Given the description of an element on the screen output the (x, y) to click on. 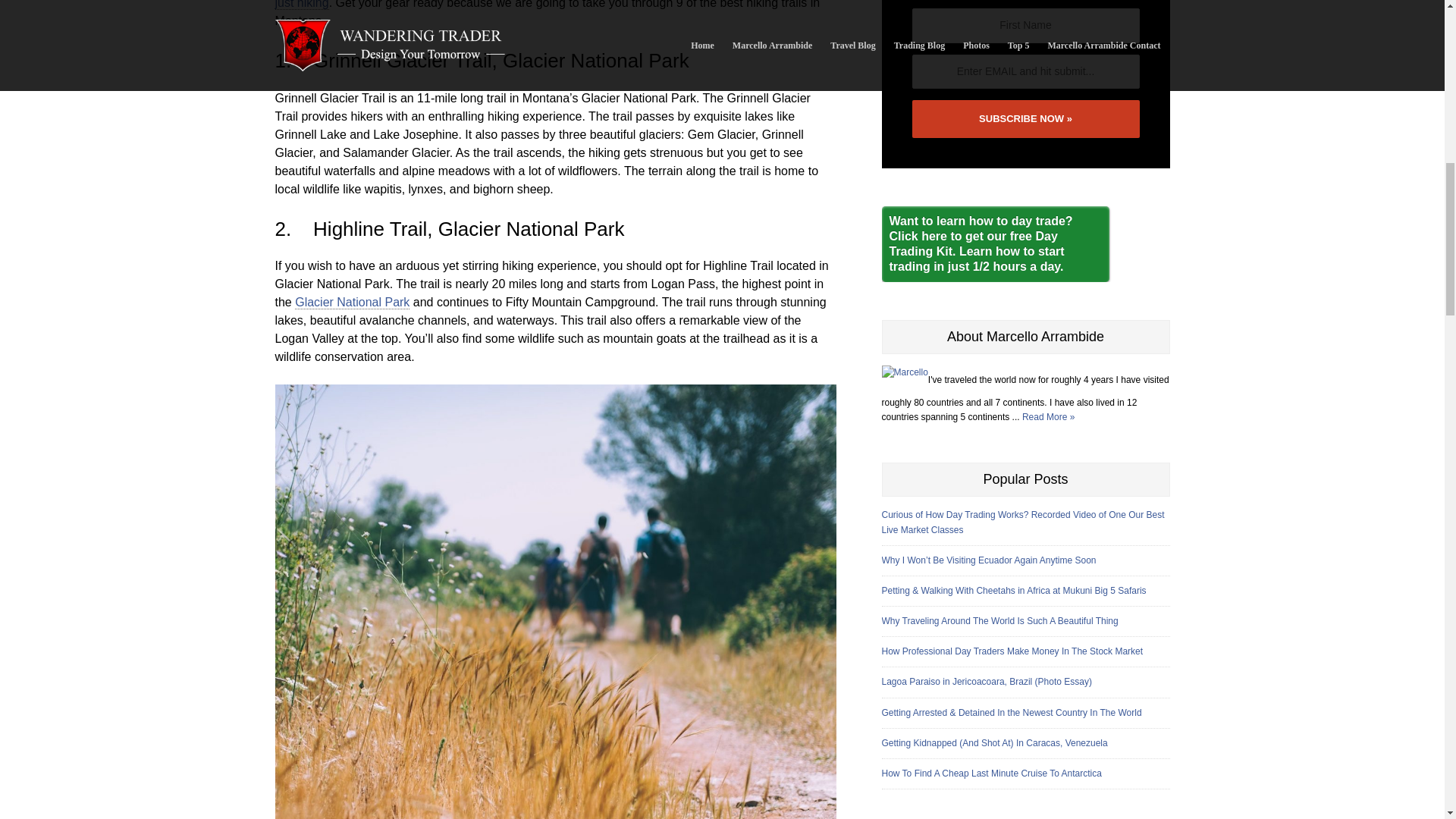
How Professional Day Traders Make Money In The Stock Market (1024, 651)
Why Traveling Around The World Is Such A Beautiful Thing (1024, 621)
How To Find A Cheap Last Minute Cruise To Antarctica (1024, 773)
Marcello (903, 372)
Glacier National Park (352, 302)
more than just hiking (544, 4)
